Given the description of an element on the screen output the (x, y) to click on. 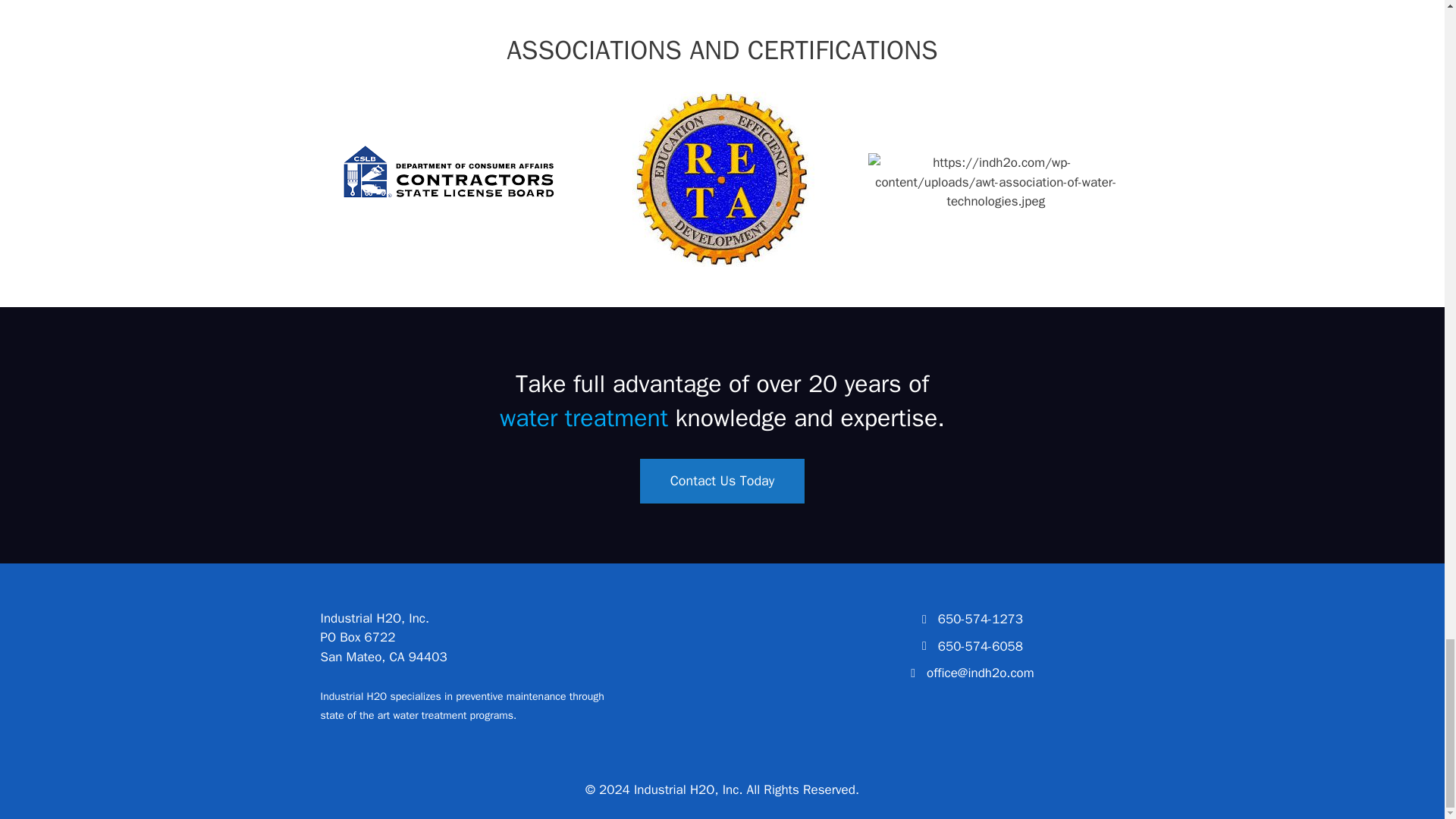
Contact Us Today (722, 480)
650-574-1273 (980, 619)
